Given the description of an element on the screen output the (x, y) to click on. 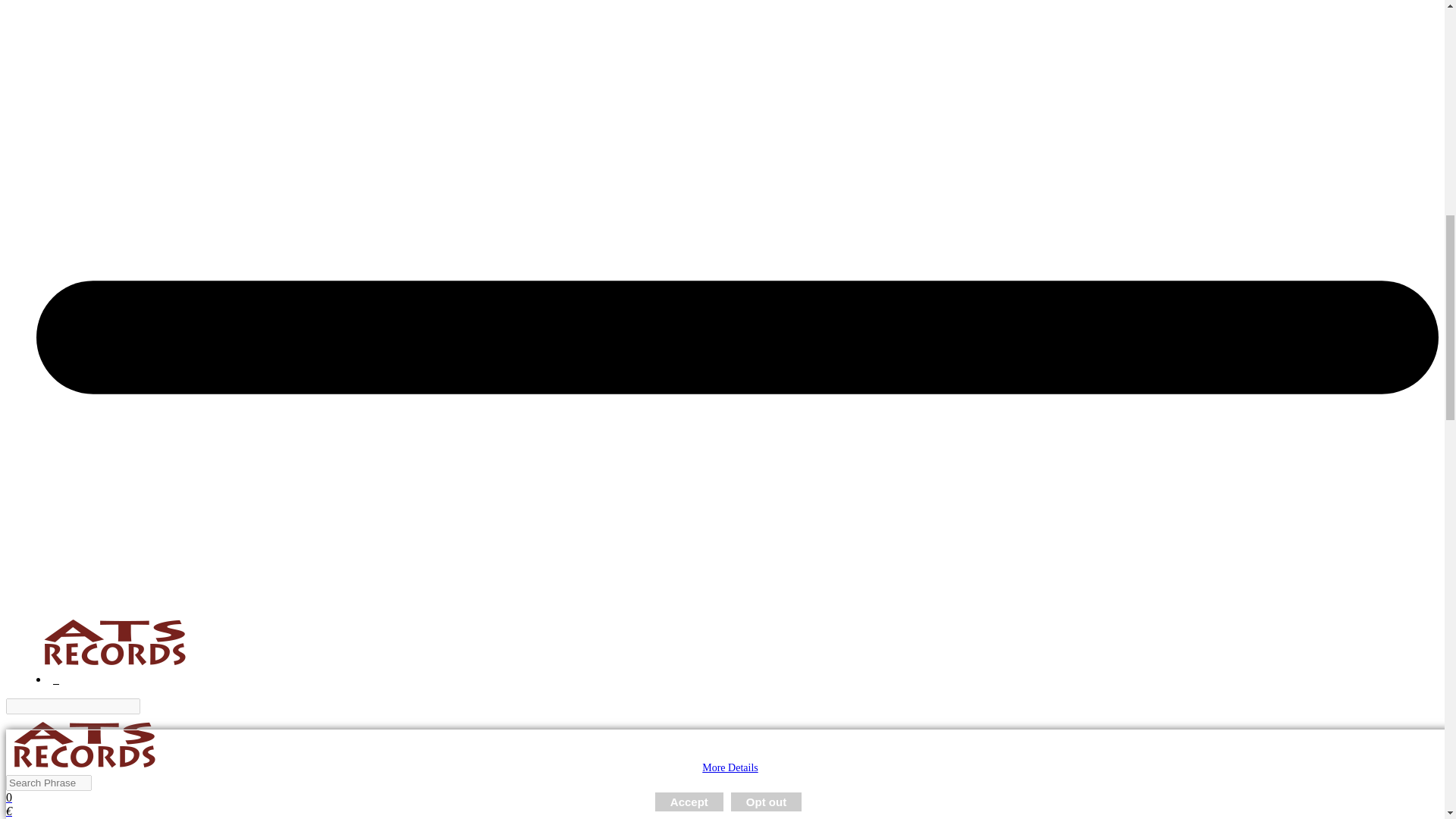
Find (148, 706)
